Given the description of an element on the screen output the (x, y) to click on. 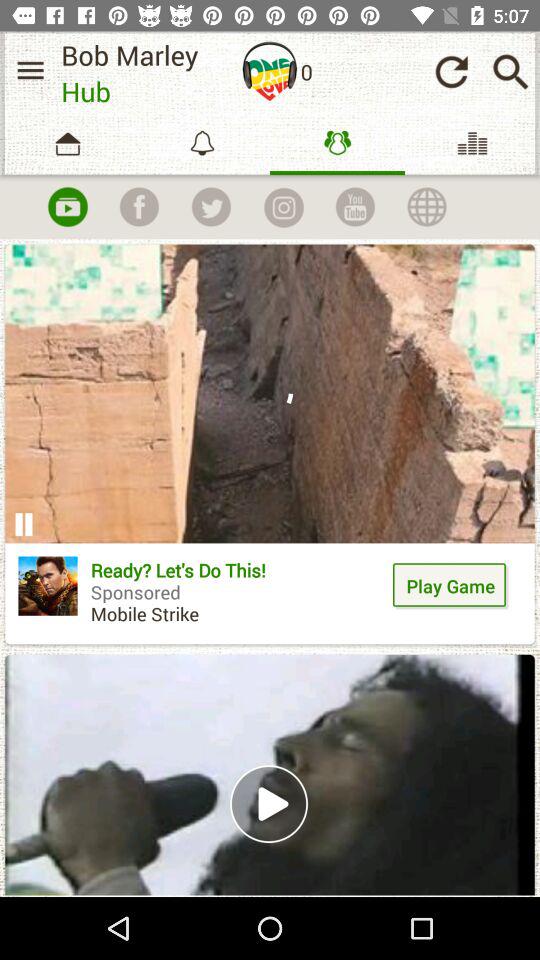
search (510, 71)
